Given the description of an element on the screen output the (x, y) to click on. 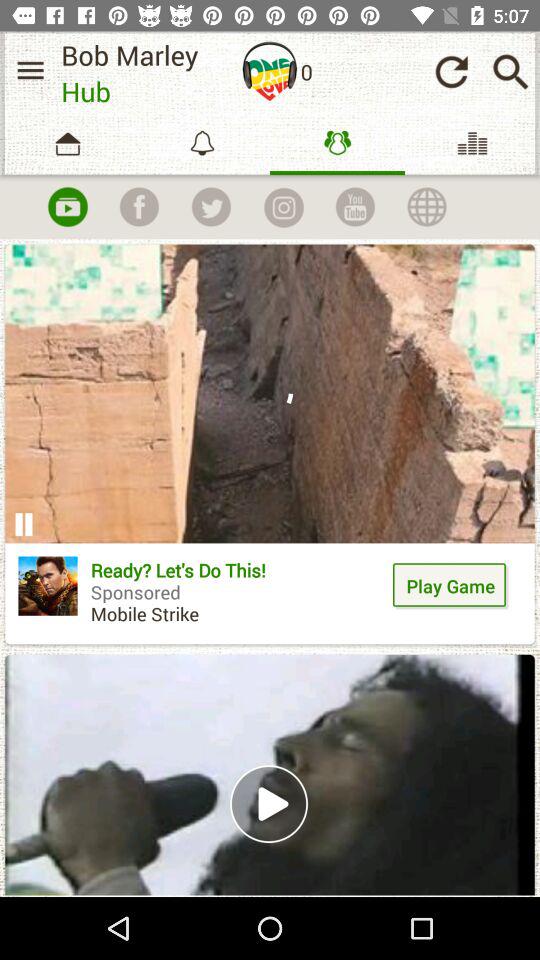
search (510, 71)
